Given the description of an element on the screen output the (x, y) to click on. 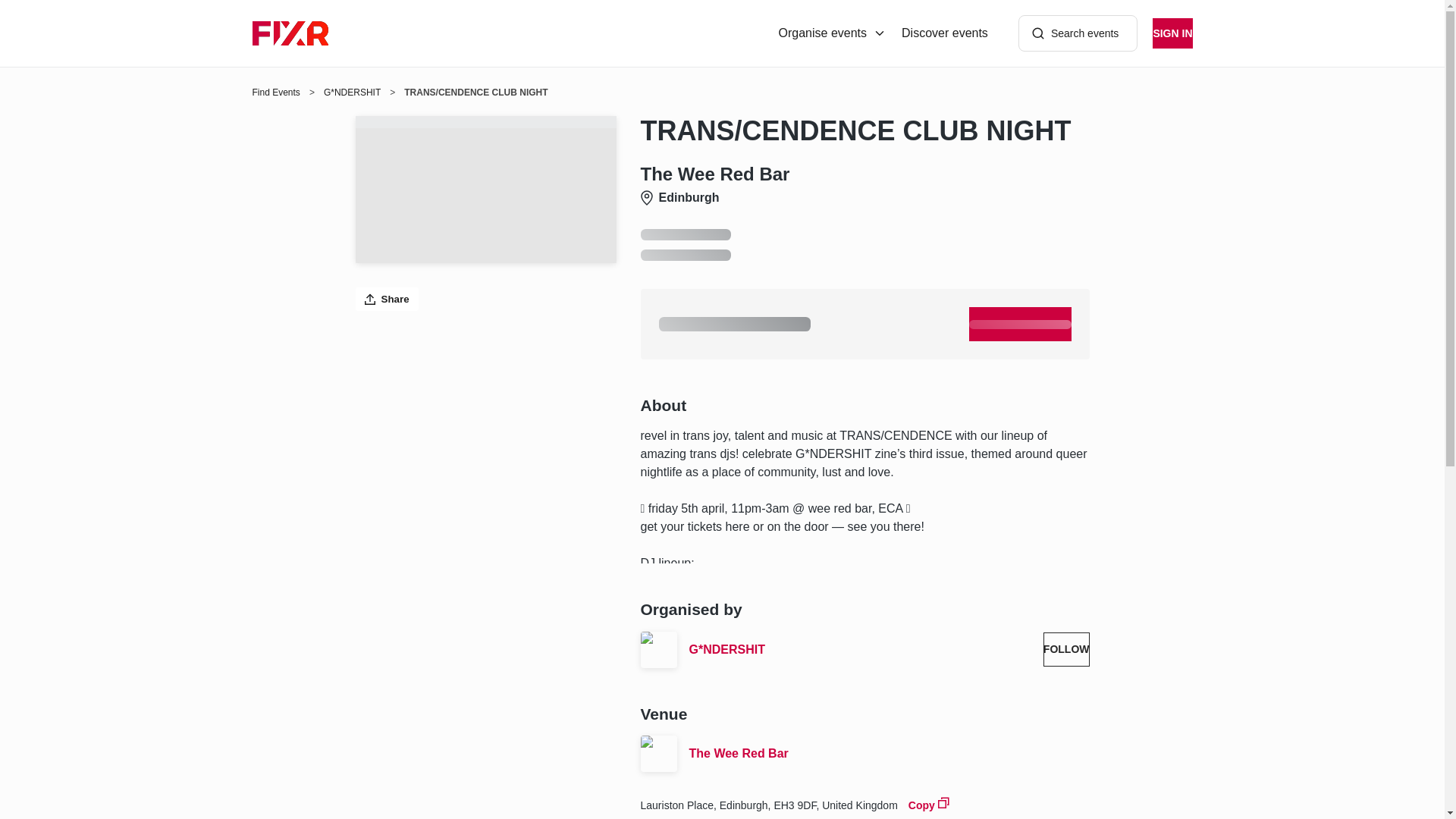
Find Events (275, 92)
FOLLOW (1066, 649)
Copy (928, 804)
Discover events (944, 33)
PLACEHOLDER TEXT (1020, 324)
Search events (1077, 33)
Share (386, 298)
SIGN IN (1172, 33)
The Wee Red Bar (888, 753)
Organise events (832, 33)
